Given the description of an element on the screen output the (x, y) to click on. 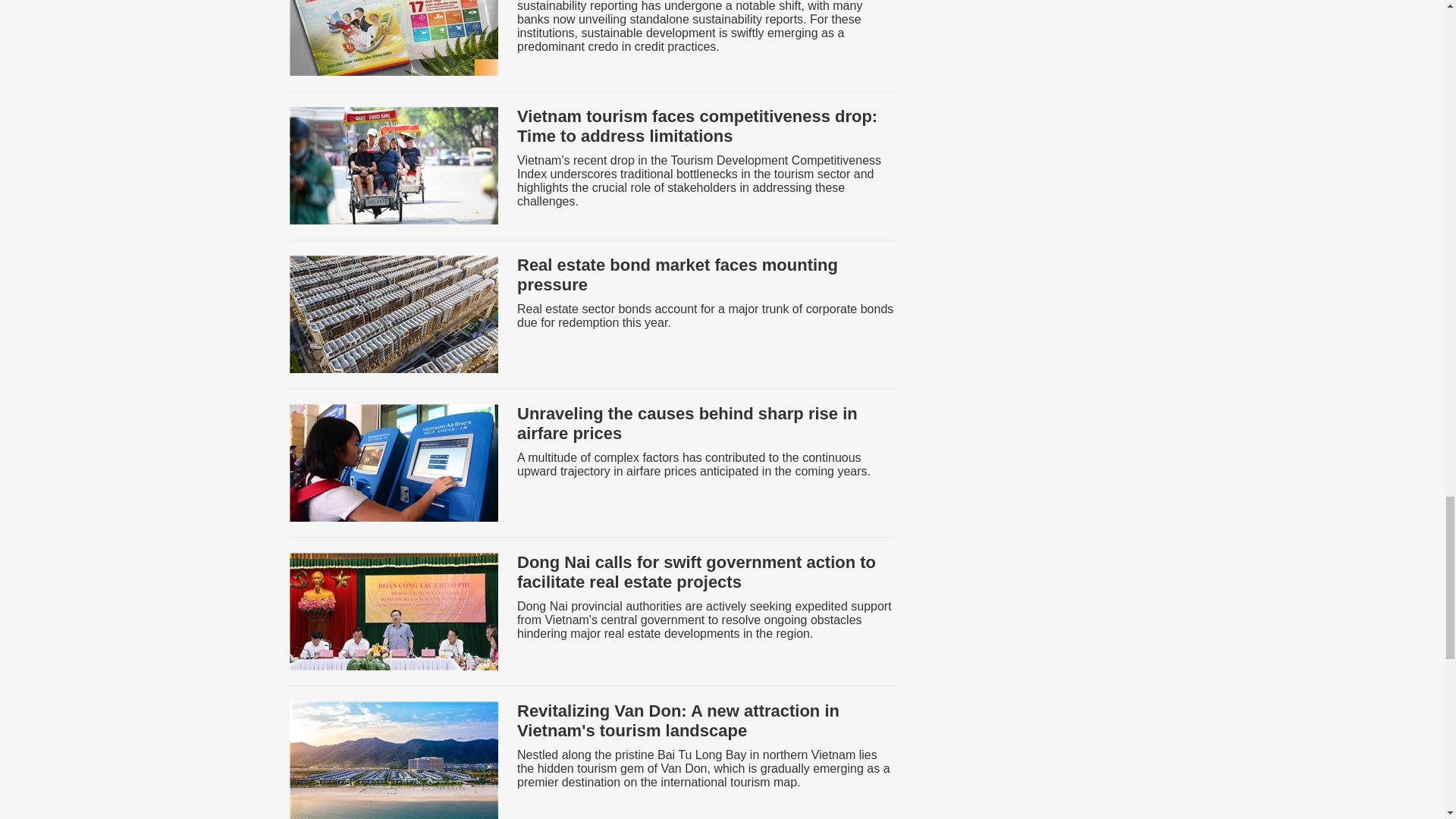
Real estate bond market faces mounting pressure (677, 274)
